Given the description of an element on the screen output the (x, y) to click on. 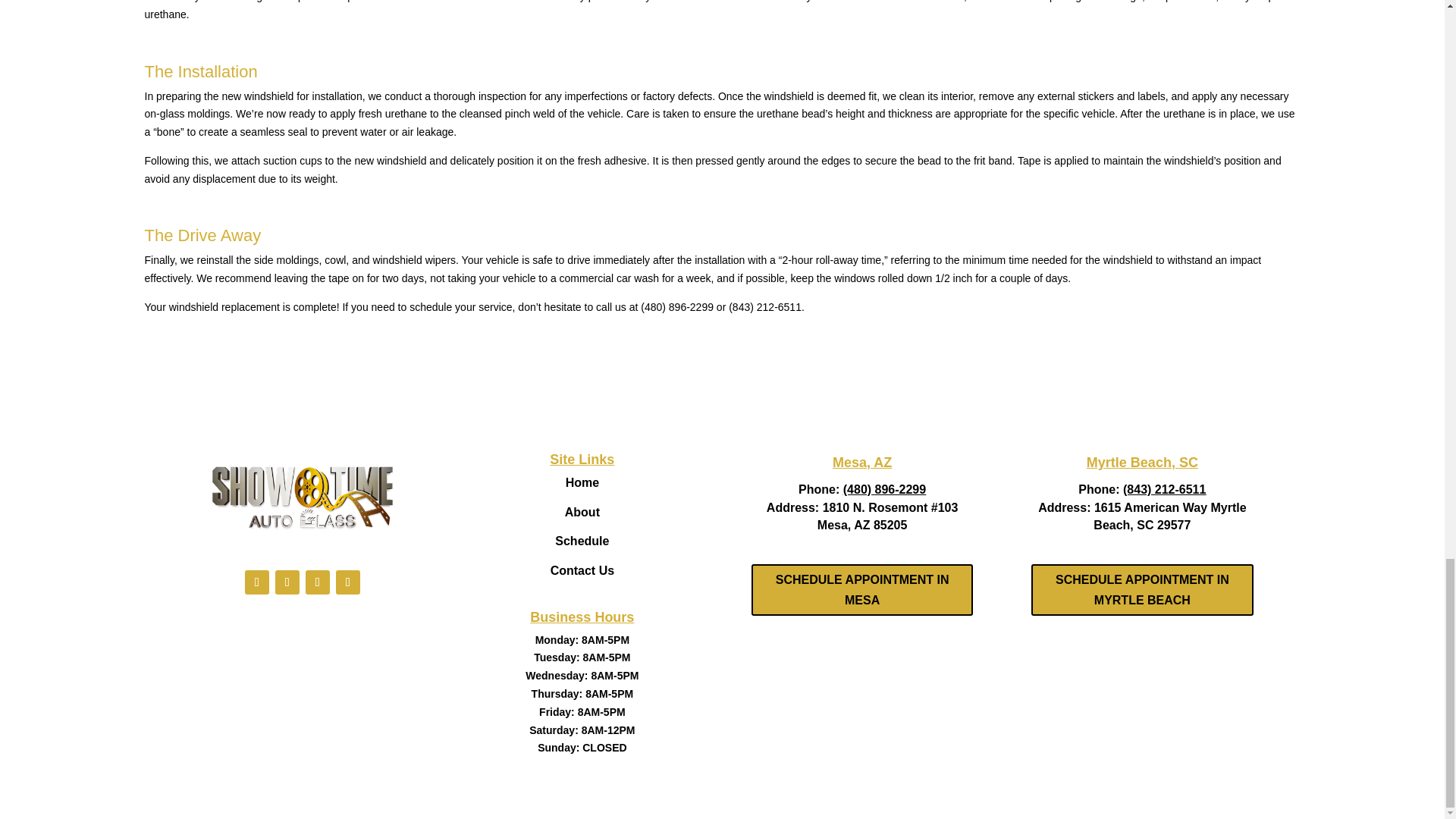
Home (582, 481)
Schedule (581, 540)
Follow on Instagram (317, 582)
ShowTime Auto Glass Logo (301, 496)
About (581, 512)
SCHEDULE APPOINTMENT IN MESA (861, 589)
Follow on Facebook (256, 582)
Contact Us (582, 570)
Follow on X (287, 582)
SCHEDULE APPOINTMENT IN MYRTLE BEACH (1141, 589)
